Given the description of an element on the screen output the (x, y) to click on. 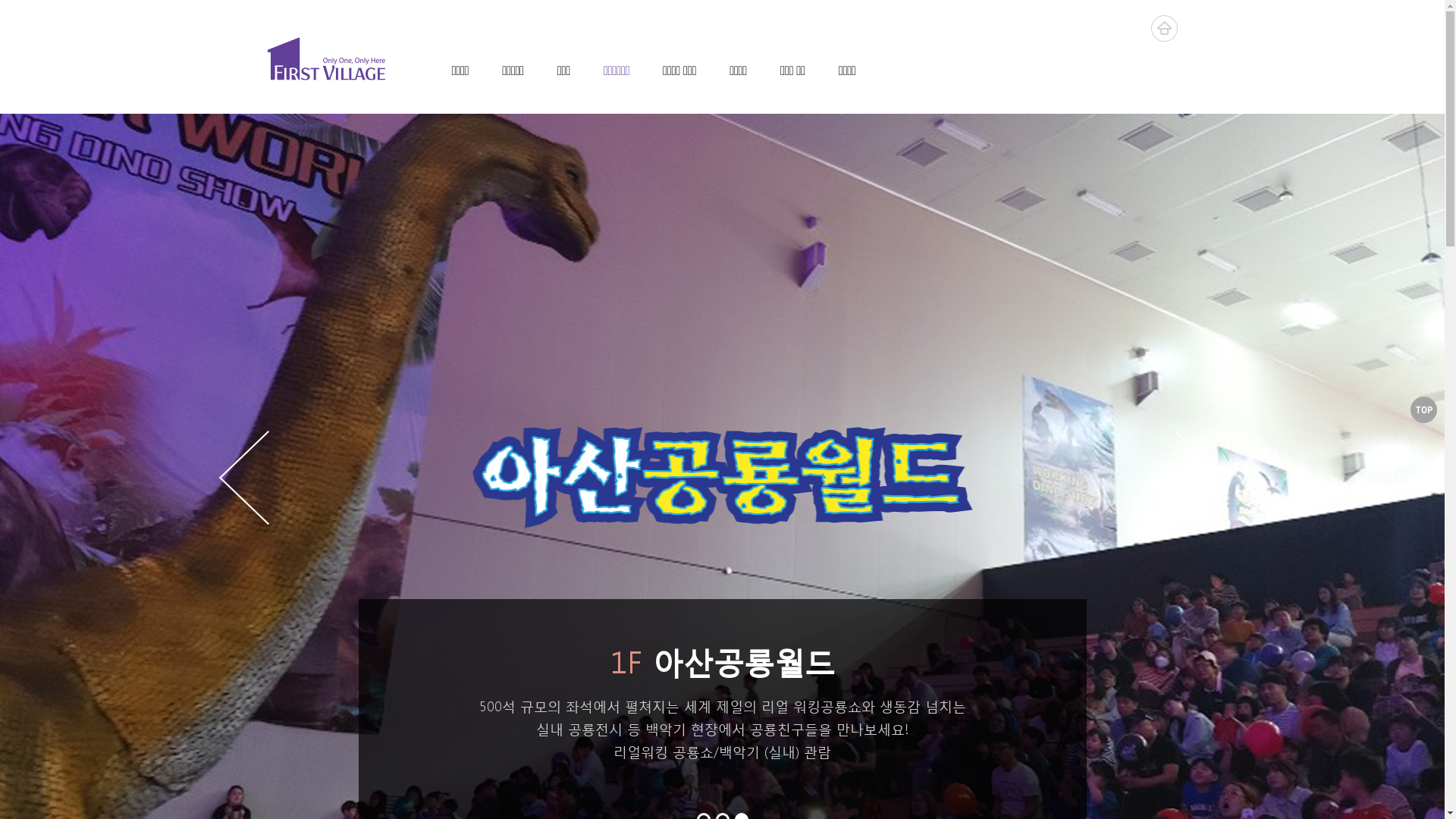
HOME Element type: text (1164, 28)
Next Element type: text (1200, 477)
Previous Element type: text (242, 477)
FIRST VILLAGE Element type: text (325, 58)
